Given the description of an element on the screen output the (x, y) to click on. 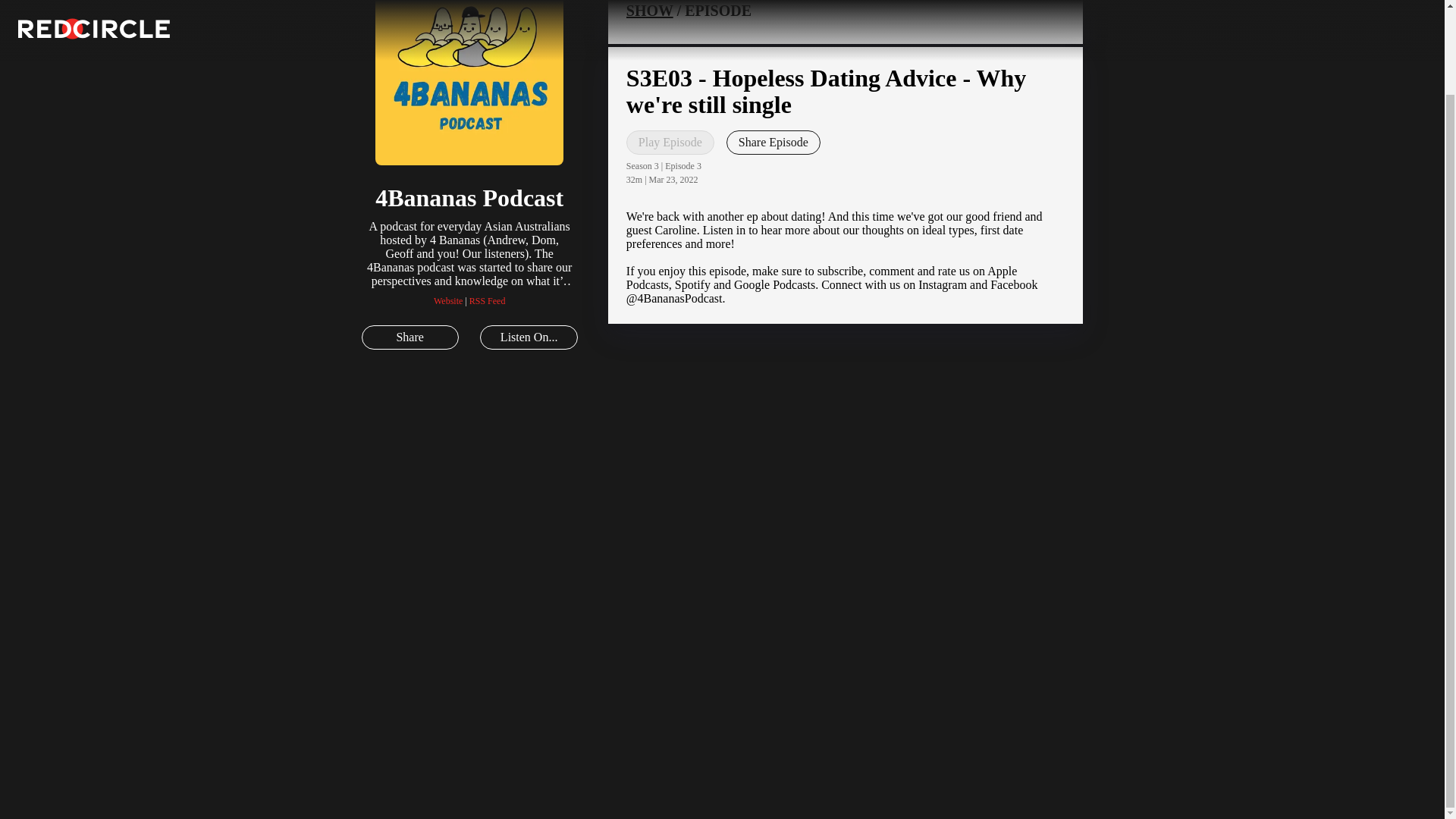
Play Episode (670, 142)
RSS Feed (486, 300)
Share (409, 337)
Listen On... (528, 337)
Website (448, 300)
SHOW (649, 10)
Share Episode (773, 142)
